Given the description of an element on the screen output the (x, y) to click on. 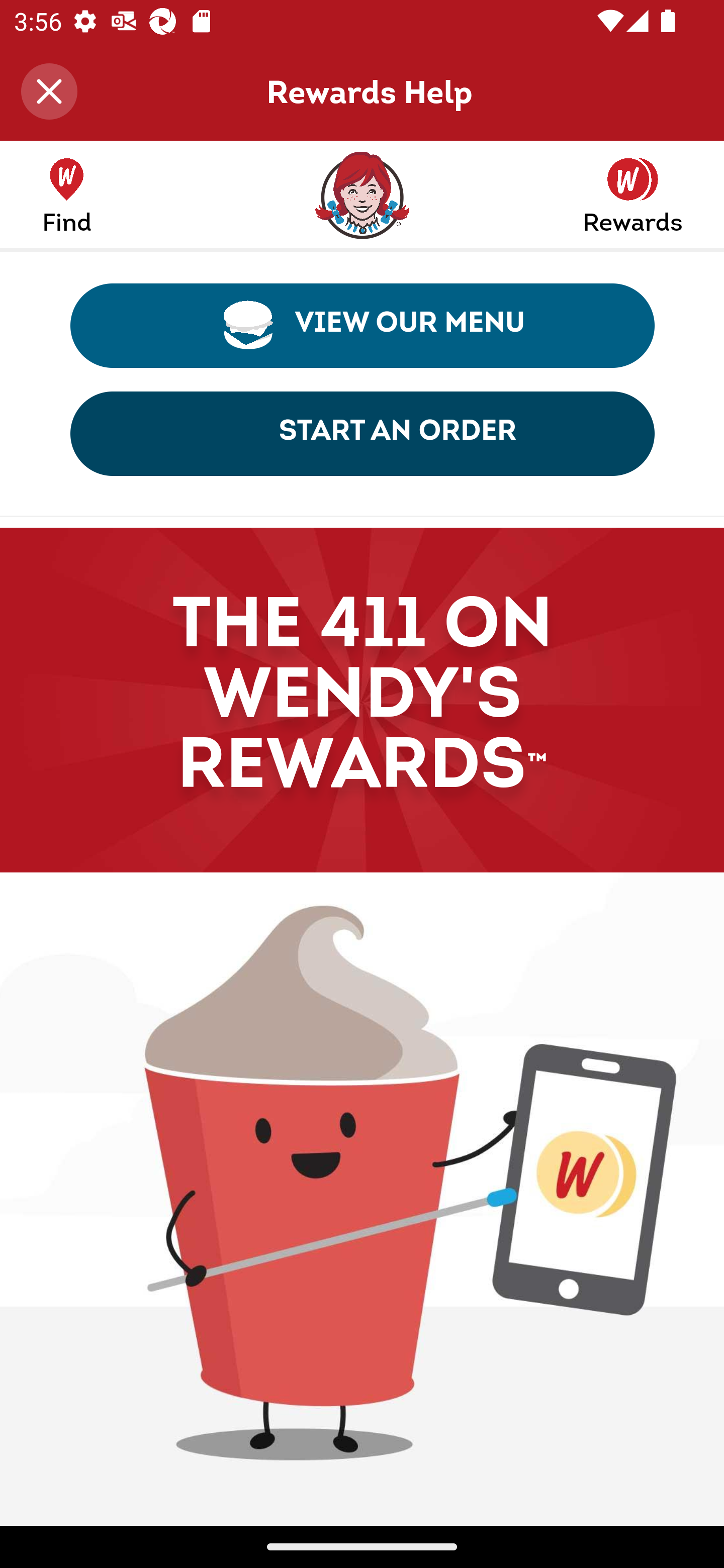
Close (49, 91)
Home (361, 198)
VIEW OUR MENU (362, 325)
START AN ORDER (362, 433)
